Given the description of an element on the screen output the (x, y) to click on. 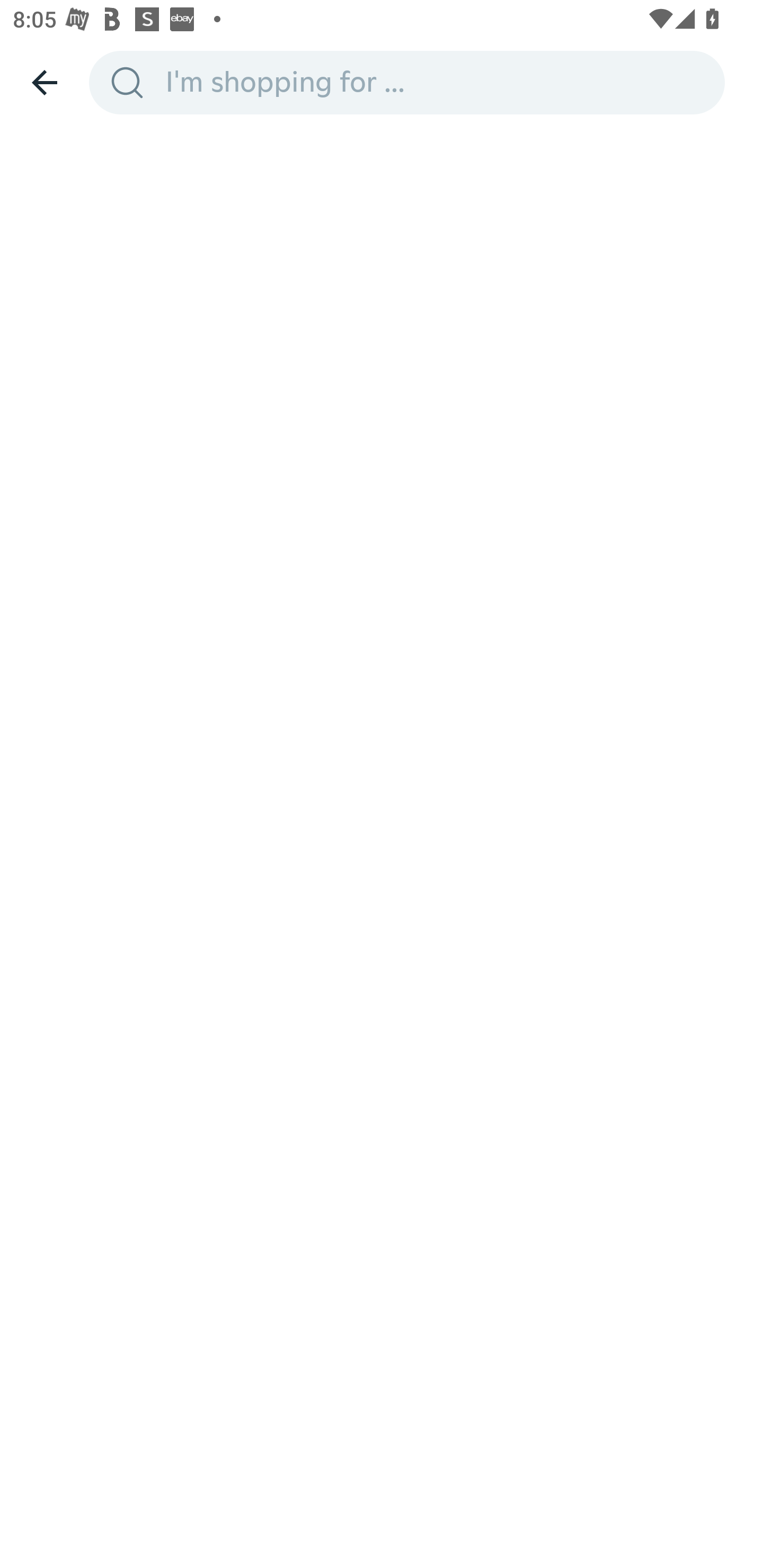
Navigate up (44, 82)
I'm shopping for ... (438, 81)
